Given the description of an element on the screen output the (x, y) to click on. 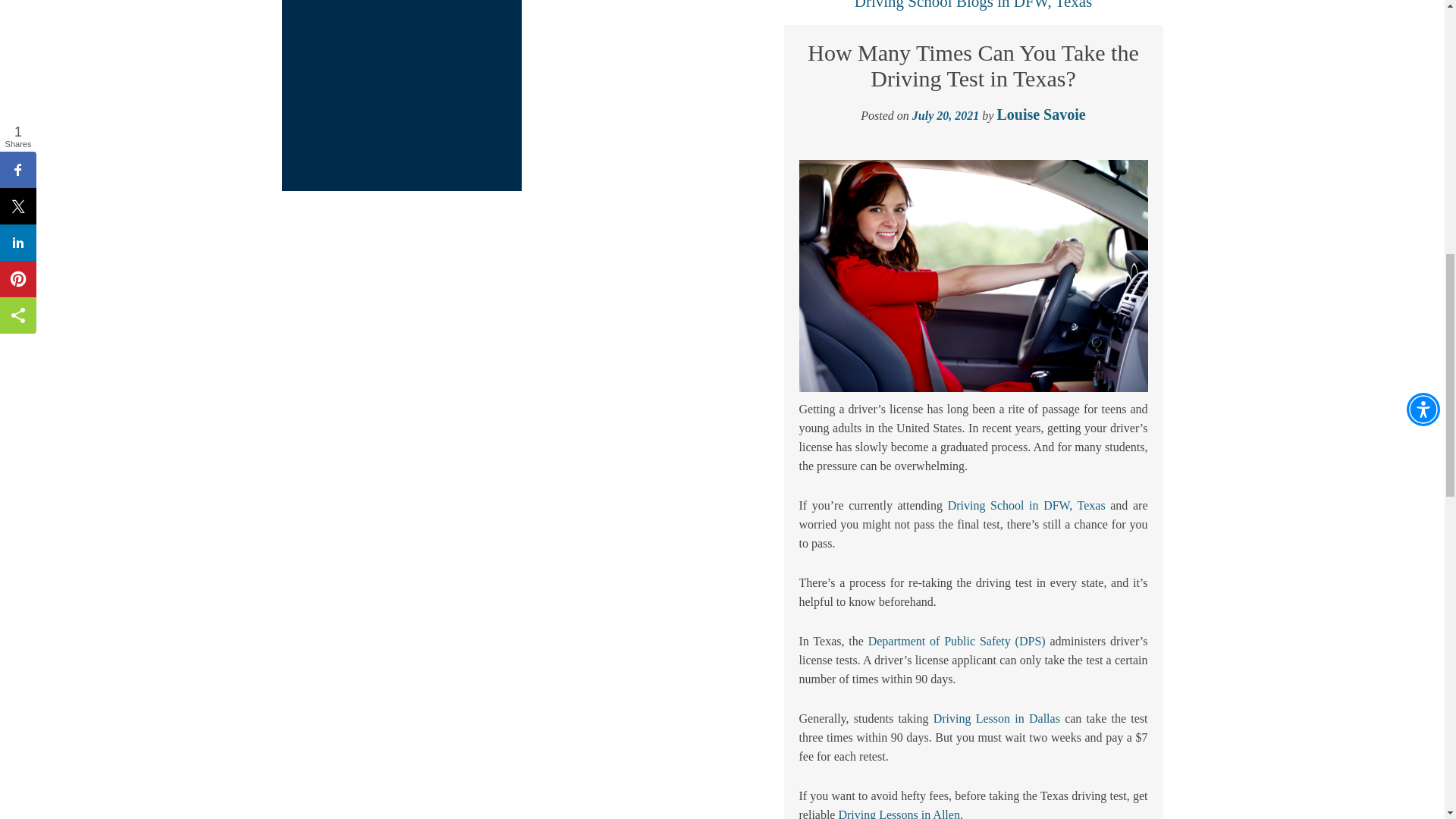
July 20, 2021 (945, 115)
View all posts by Louise Savoie (1039, 114)
Driving Lesson in Dallas (996, 717)
6:43 am (945, 115)
Driving Lessons in Allen (898, 813)
Louise Savoie (1039, 114)
Driving School in DFW, Texas (1026, 504)
